Given the description of an element on the screen output the (x, y) to click on. 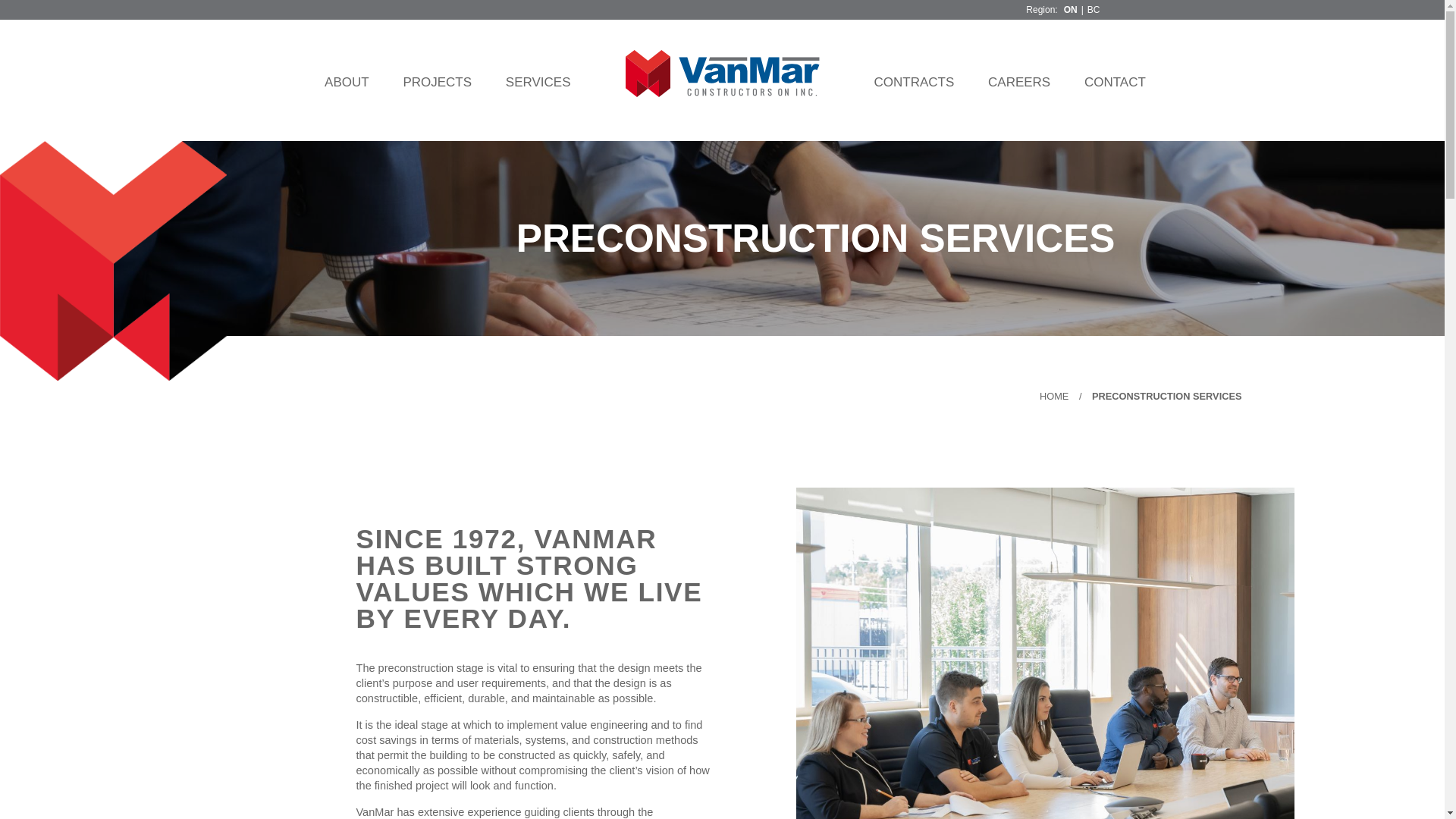
BC (1093, 9)
CONTRACTS (914, 82)
SERVICES (538, 82)
CAREERS (1018, 82)
ABOUT (346, 82)
ON (1070, 9)
PROJECTS (436, 82)
HOME (1053, 396)
CONTACT (1114, 82)
